Given the description of an element on the screen output the (x, y) to click on. 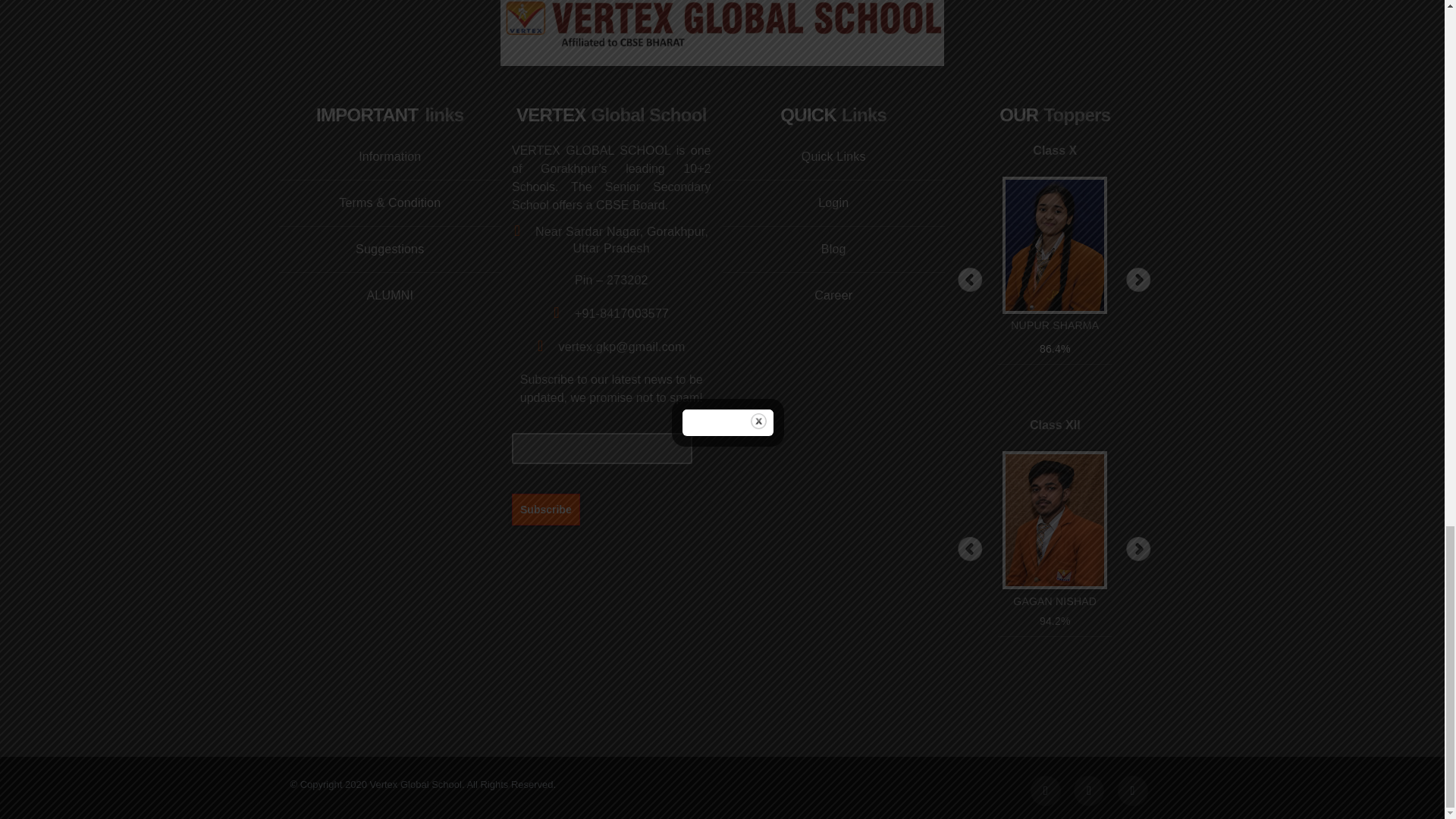
Subscribe (545, 508)
